Given the description of an element on the screen output the (x, y) to click on. 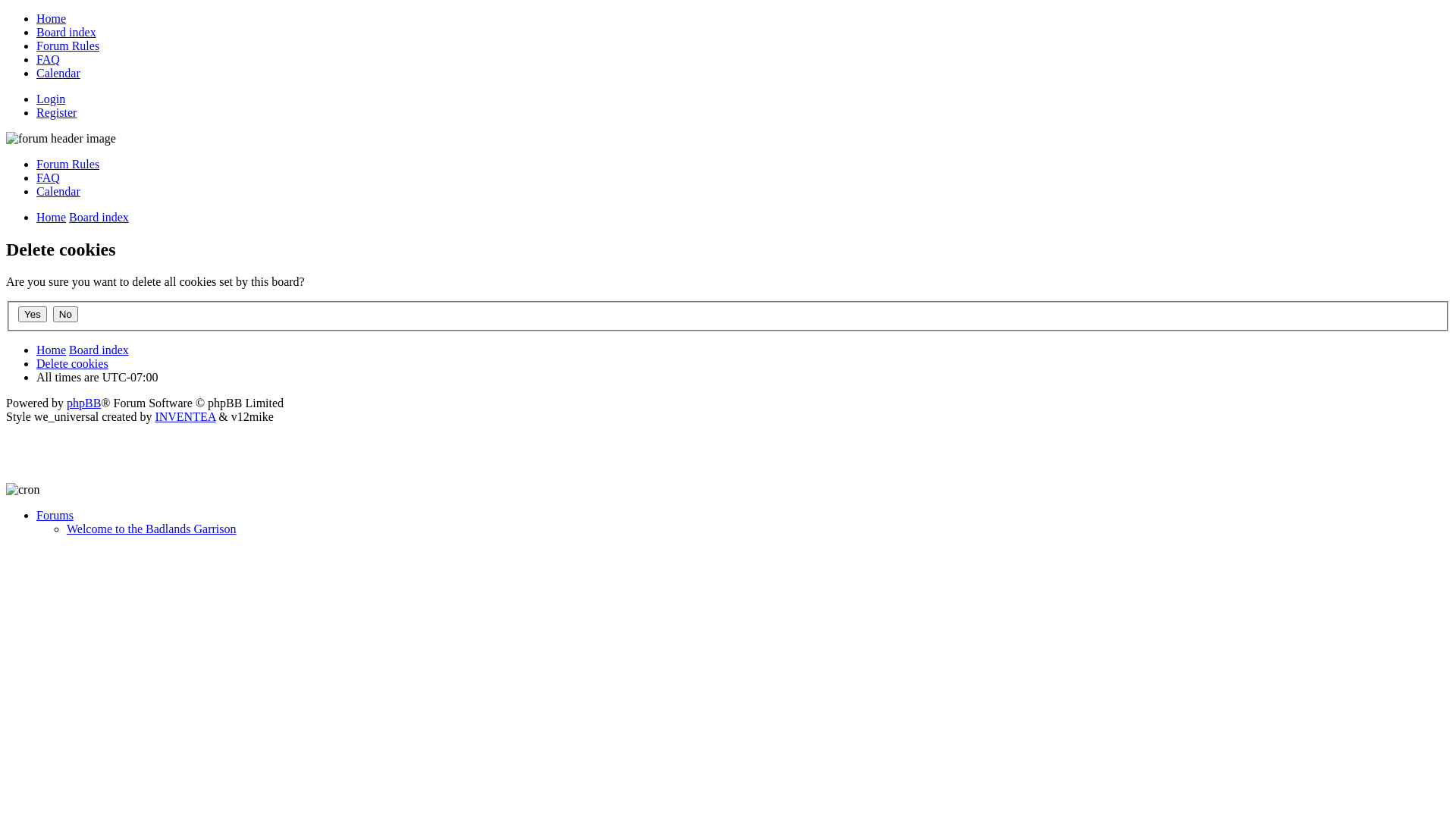
Delete cookies Element type: text (72, 363)
Home Element type: text (50, 349)
Yes Element type: text (32, 314)
Board index Element type: text (98, 216)
Board index Element type: text (66, 31)
Home Element type: text (50, 216)
Board index Element type: text (98, 349)
Login Element type: text (50, 98)
phpBB Element type: text (83, 402)
FAQ Element type: text (47, 59)
No Element type: text (65, 314)
Forum Rules Element type: text (67, 163)
Welcome to the Badlands Garrison Element type: text (151, 528)
Home Element type: text (50, 18)
INVENTEA Element type: text (184, 416)
FAQ Element type: text (47, 177)
Register Element type: text (56, 112)
Forum Rules Element type: text (67, 45)
Calendar Element type: text (58, 191)
Forums Element type: text (54, 514)
Calendar Element type: text (58, 72)
